Given the description of an element on the screen output the (x, y) to click on. 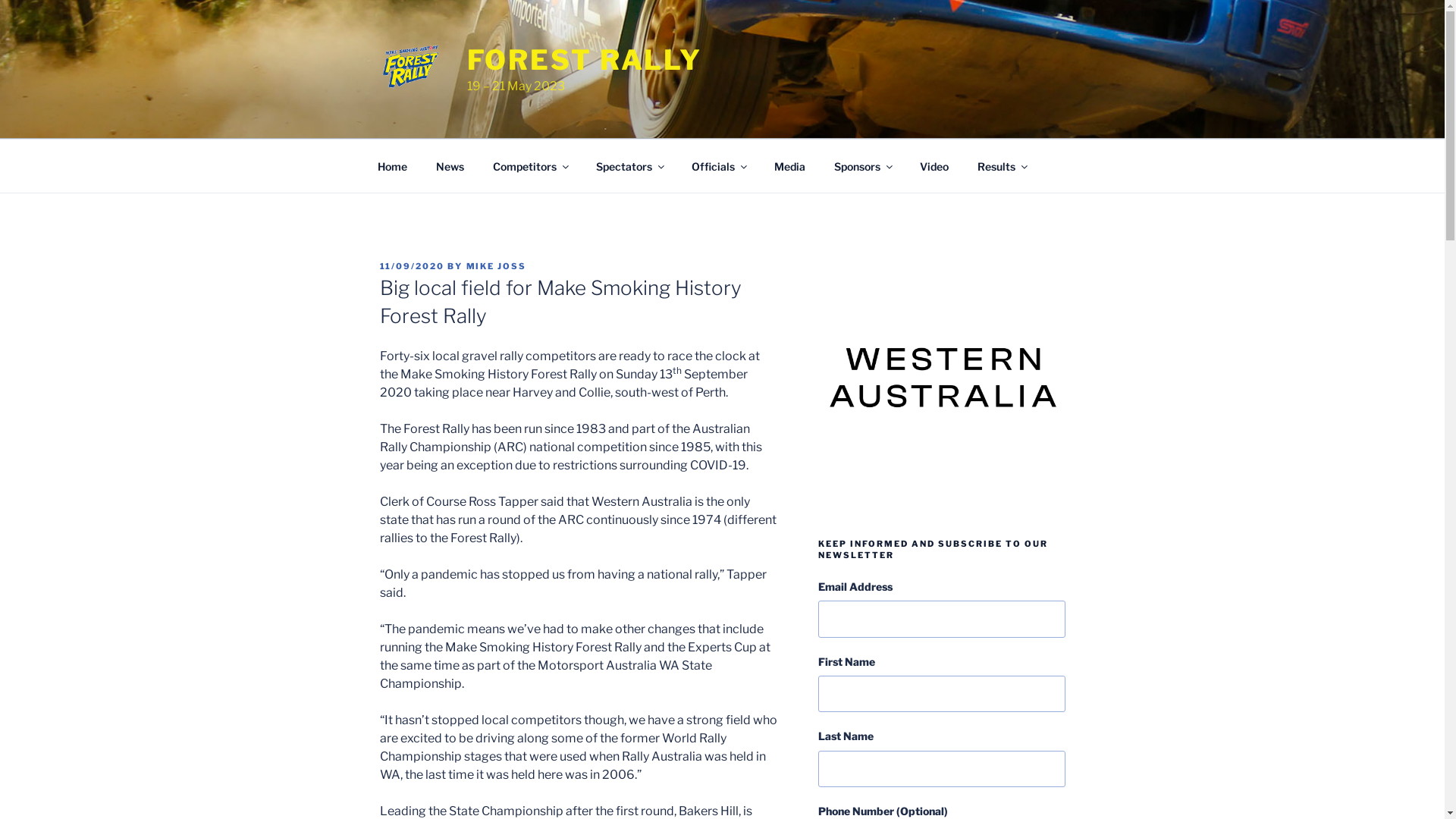
Video Element type: text (934, 165)
Home Element type: text (392, 165)
Spectators Element type: text (628, 165)
MIKE JOSS Element type: text (495, 265)
Competitors Element type: text (529, 165)
Sponsors Element type: text (861, 165)
Skip to content Element type: text (0, 0)
11/09/2020 Element type: text (411, 265)
Media Element type: text (790, 165)
Results Element type: text (1001, 165)
Officials Element type: text (717, 165)
FOREST RALLY Element type: text (584, 59)
News Element type: text (450, 165)
